Given the description of an element on the screen output the (x, y) to click on. 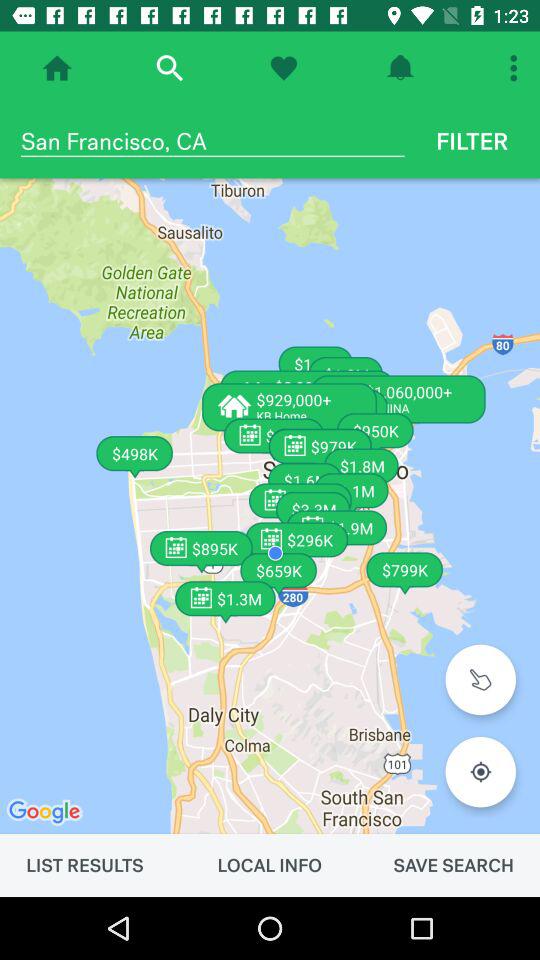
view favorites (283, 68)
